Given the description of an element on the screen output the (x, y) to click on. 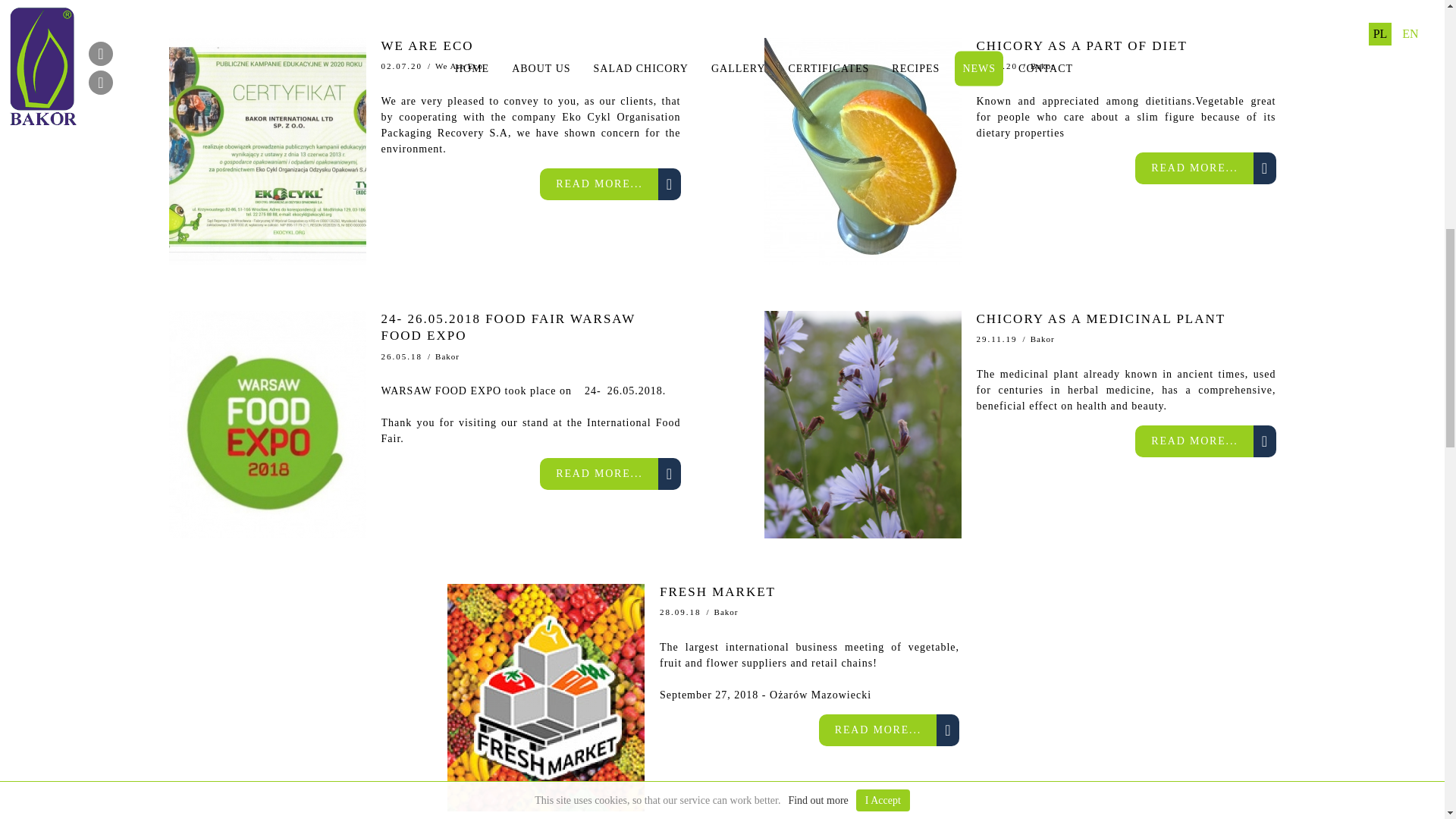
CHICORY AS A PART OF DIET (1126, 47)
WE ARE ECO (529, 47)
24- 26.05.2018 FOOD FAIR WARSAW FOOD EXPO (529, 329)
CHICORY AS A MEDICINAL PLANT (1126, 321)
FRESH MARKET (809, 593)
